Given the description of an element on the screen output the (x, y) to click on. 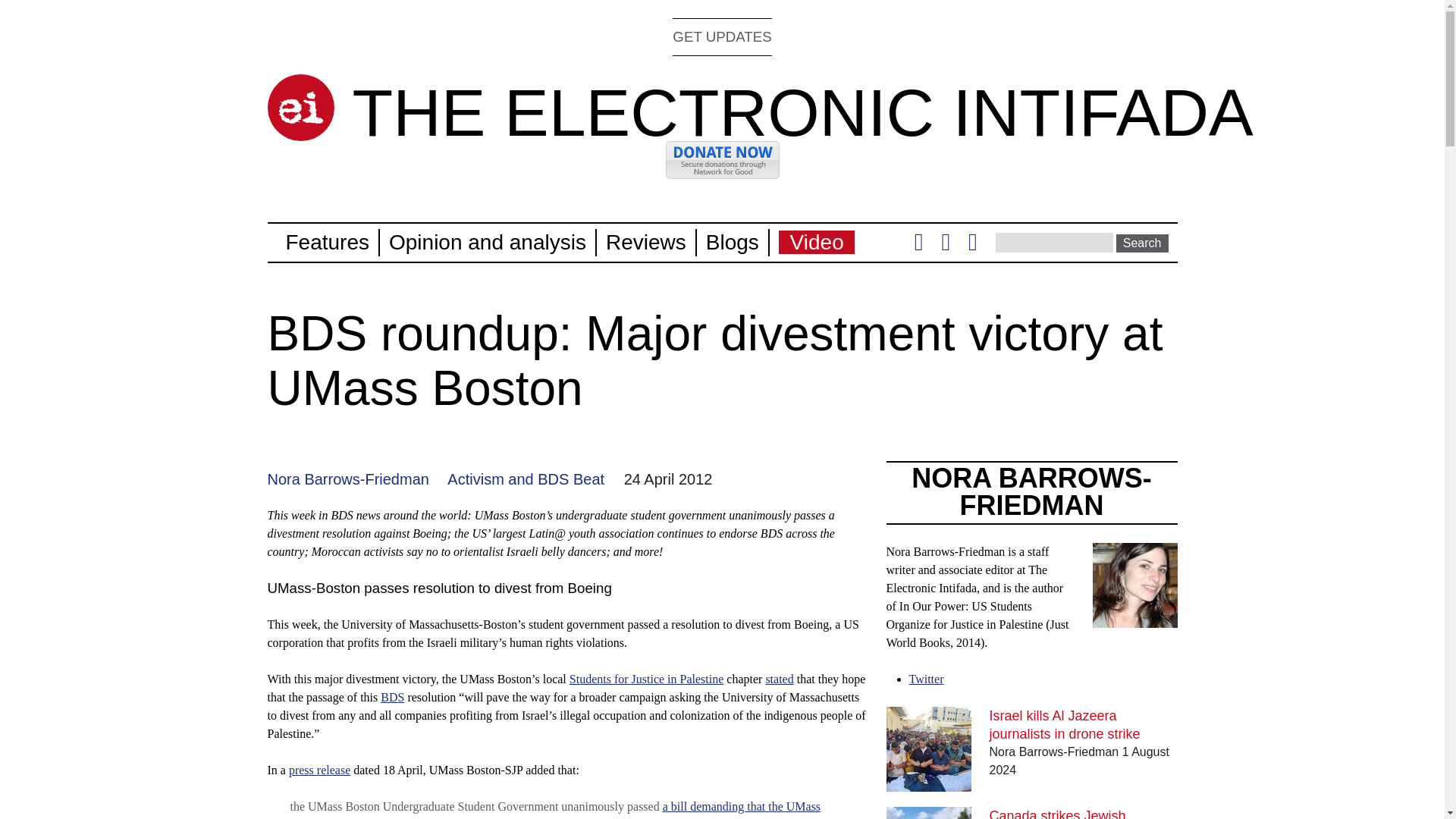
Home (299, 107)
GET UPDATES (721, 37)
Home (802, 112)
Nora Barrows-Friedman (347, 478)
Nora Barrows-Friedman's picture (1134, 617)
Students for Justice in Palestine (646, 678)
Enter the terms you wish to search for. (1054, 242)
Activism and BDS Beat (525, 478)
press release (319, 769)
stated (779, 678)
